Given the description of an element on the screen output the (x, y) to click on. 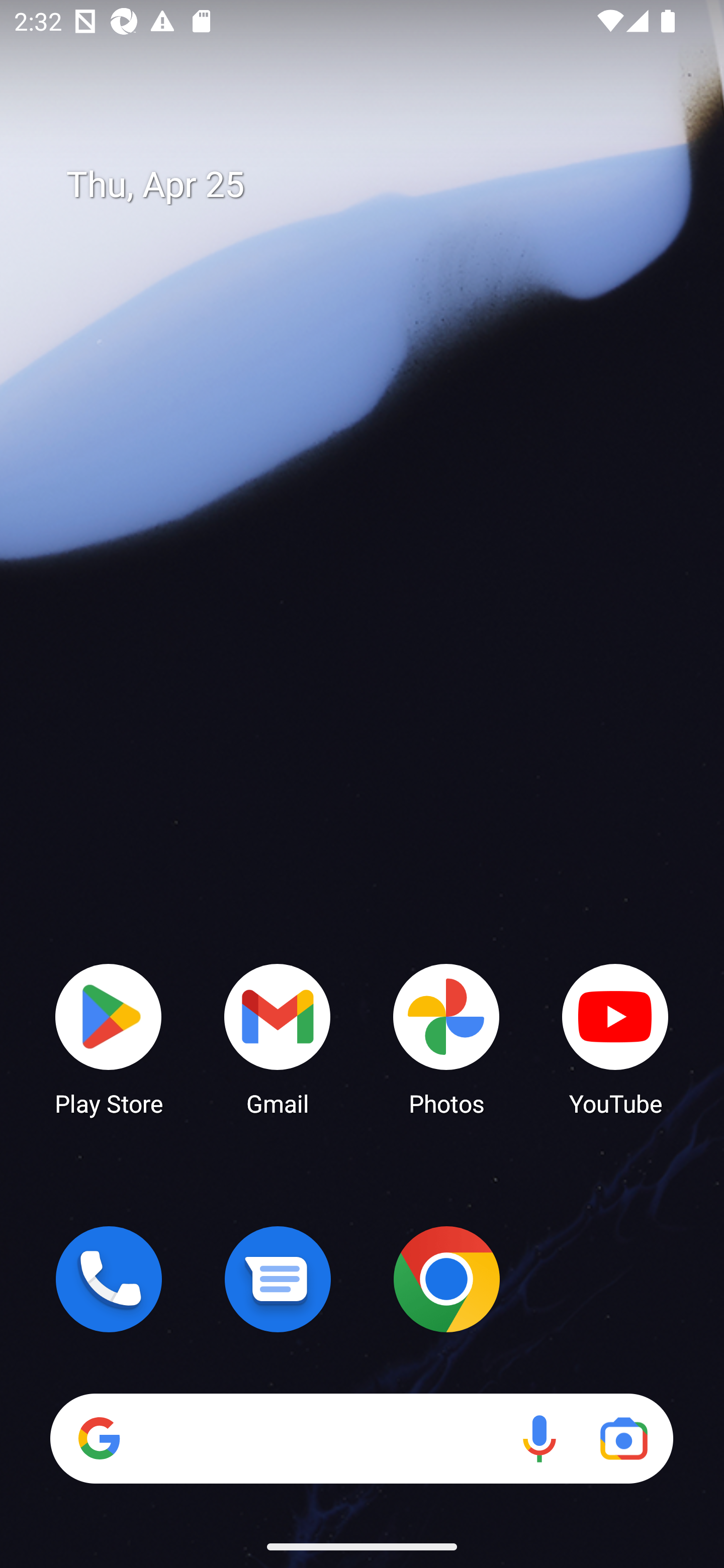
Thu, Apr 25 (375, 184)
Play Store (108, 1038)
Gmail (277, 1038)
Photos (445, 1038)
YouTube (615, 1038)
Phone (108, 1279)
Messages (277, 1279)
Chrome (446, 1279)
Search Voice search Google Lens (361, 1438)
Voice search (539, 1438)
Google Lens (623, 1438)
